Given the description of an element on the screen output the (x, y) to click on. 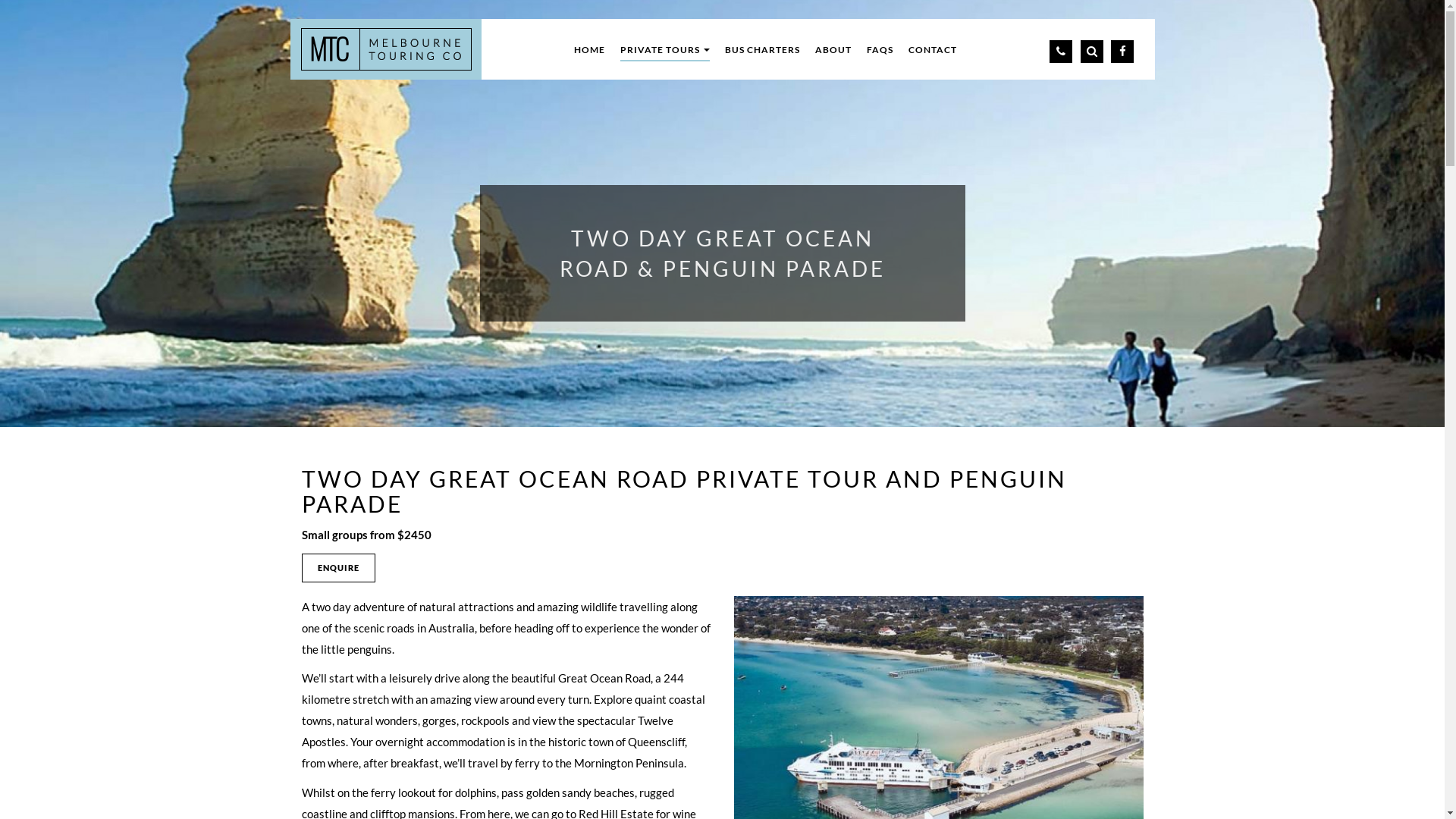
Melbourne Touring Co Element type: hover (384, 48)
Search Element type: hover (1093, 45)
HOME Element type: text (589, 49)
Facebook Element type: hover (1124, 45)
FAQS Element type: text (879, 49)
CONTACT Element type: text (932, 49)
ENQUIRE Element type: text (338, 567)
PRIVATE TOURS Element type: text (664, 49)
BUS CHARTERS Element type: text (762, 49)
ABOUT Element type: text (833, 49)
